Given the description of an element on the screen output the (x, y) to click on. 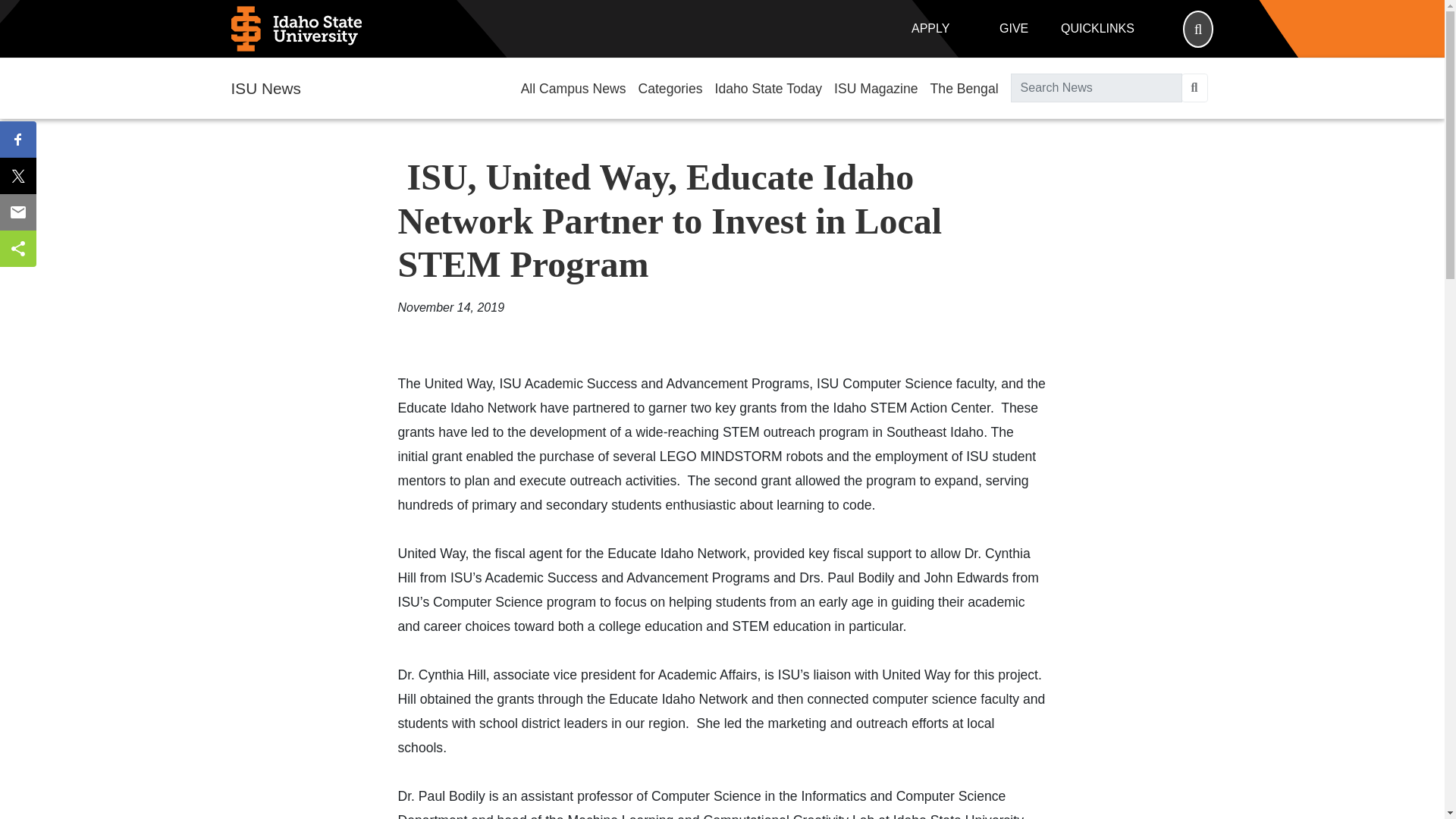
APPLY (930, 28)
GIVE (1012, 28)
QUICKLINKS (1097, 28)
